Given the description of an element on the screen output the (x, y) to click on. 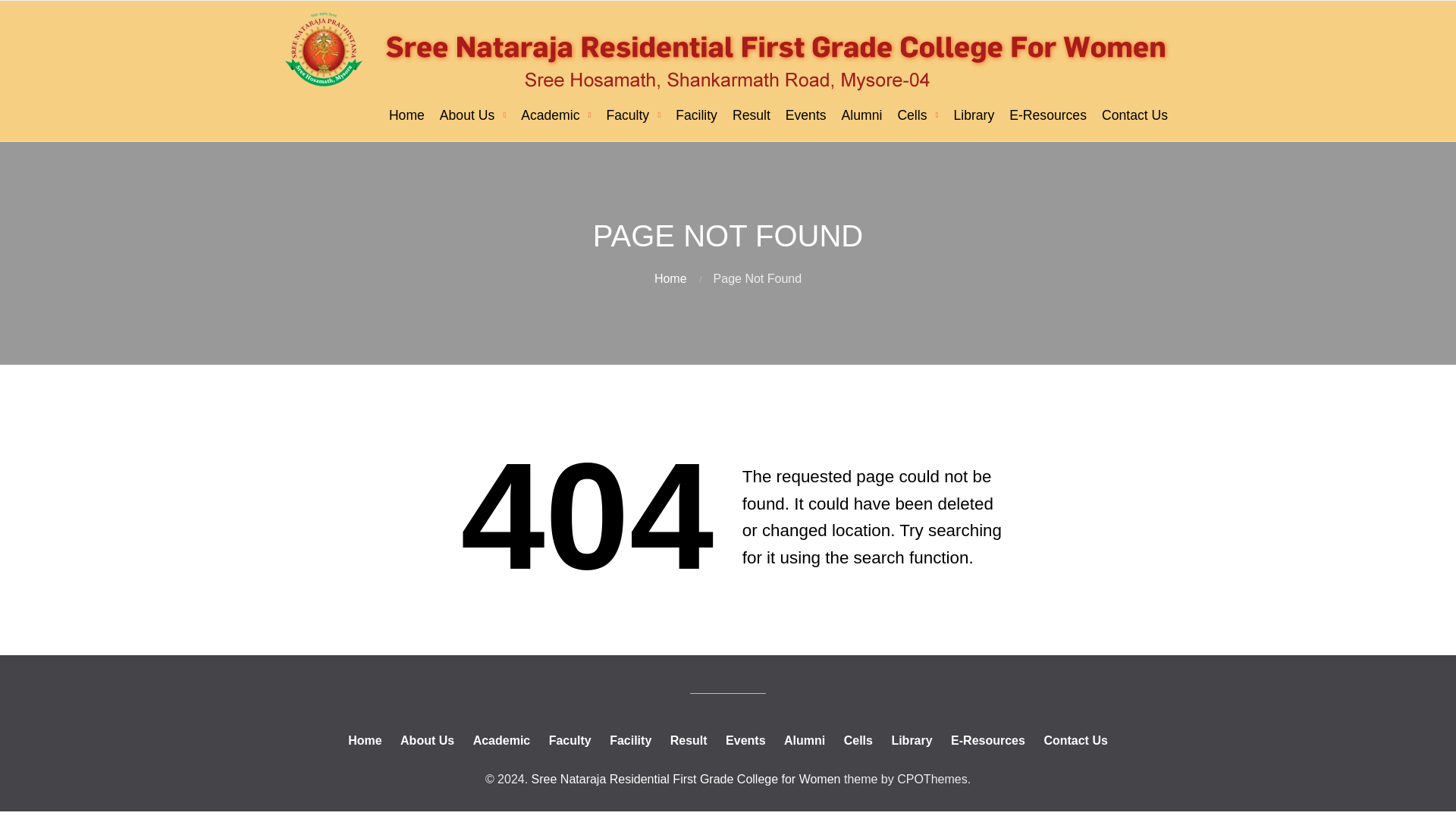
Home (406, 115)
About Us (472, 115)
Contact Us (1134, 115)
Alumni (861, 115)
Cells (916, 115)
Result (751, 115)
Faculty (633, 115)
Events (805, 115)
E-Resources (1047, 115)
Library (972, 115)
